Given the description of an element on the screen output the (x, y) to click on. 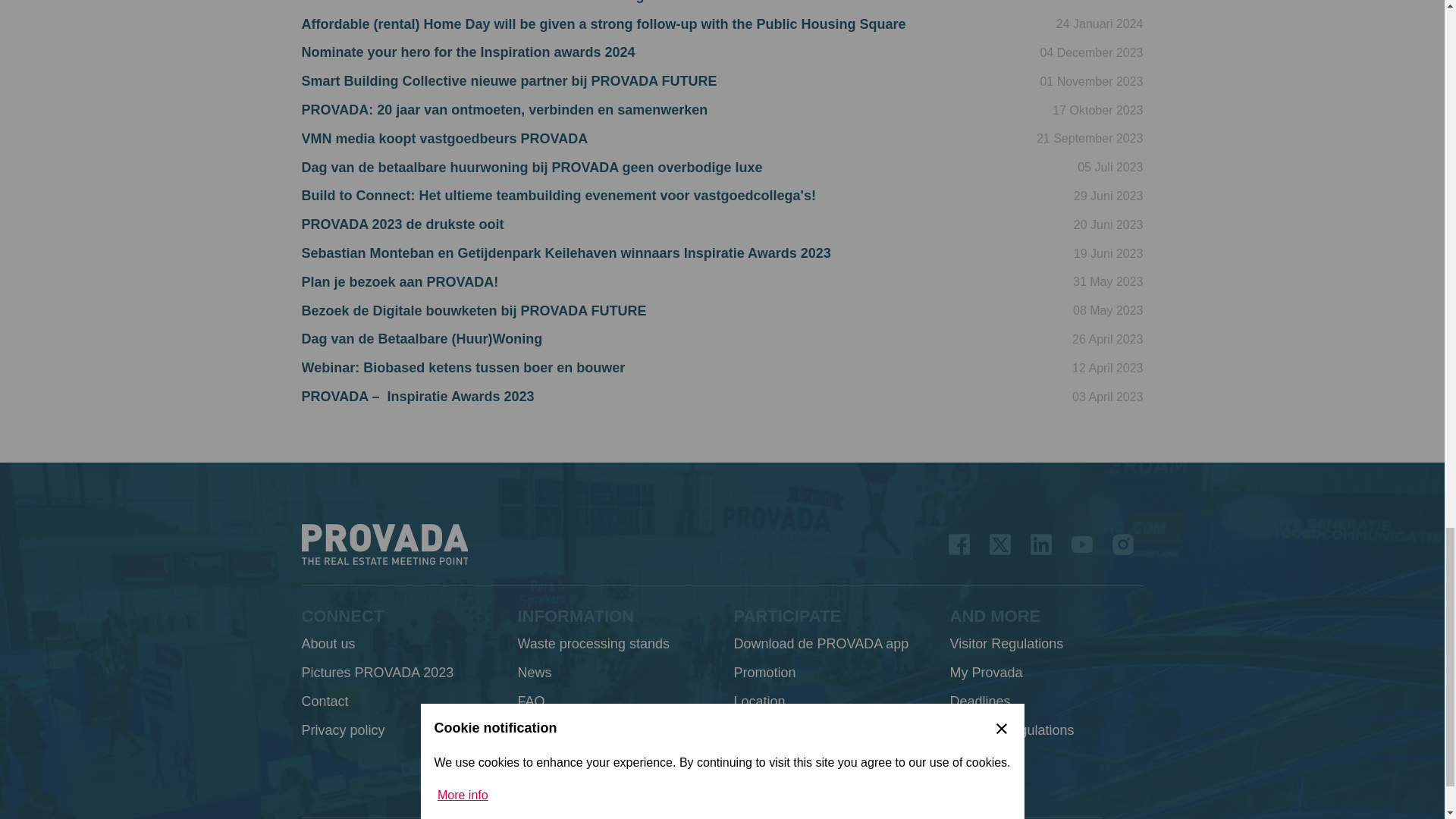
Facebook (958, 543)
